Given the description of an element on the screen output the (x, y) to click on. 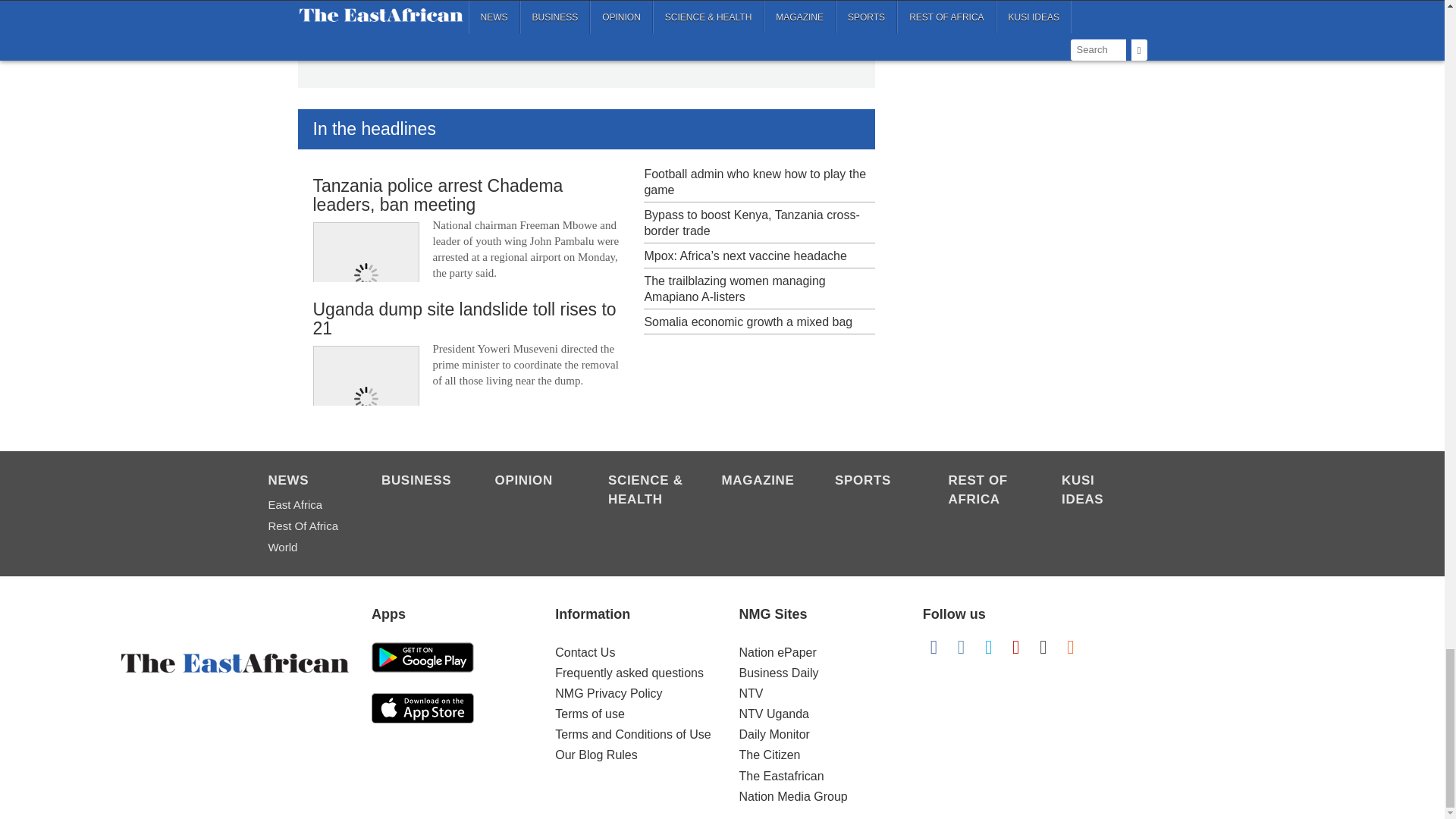
Opinion (533, 481)
Rest of Africa (306, 526)
Our Blog Rules (595, 754)
Sports (873, 481)
Business (419, 481)
NMG Privacy Policy (608, 693)
Terms of use (589, 713)
World (306, 547)
Rest of Africa (987, 491)
Terms and Conditions of Use (632, 734)
